Given the description of an element on the screen output the (x, y) to click on. 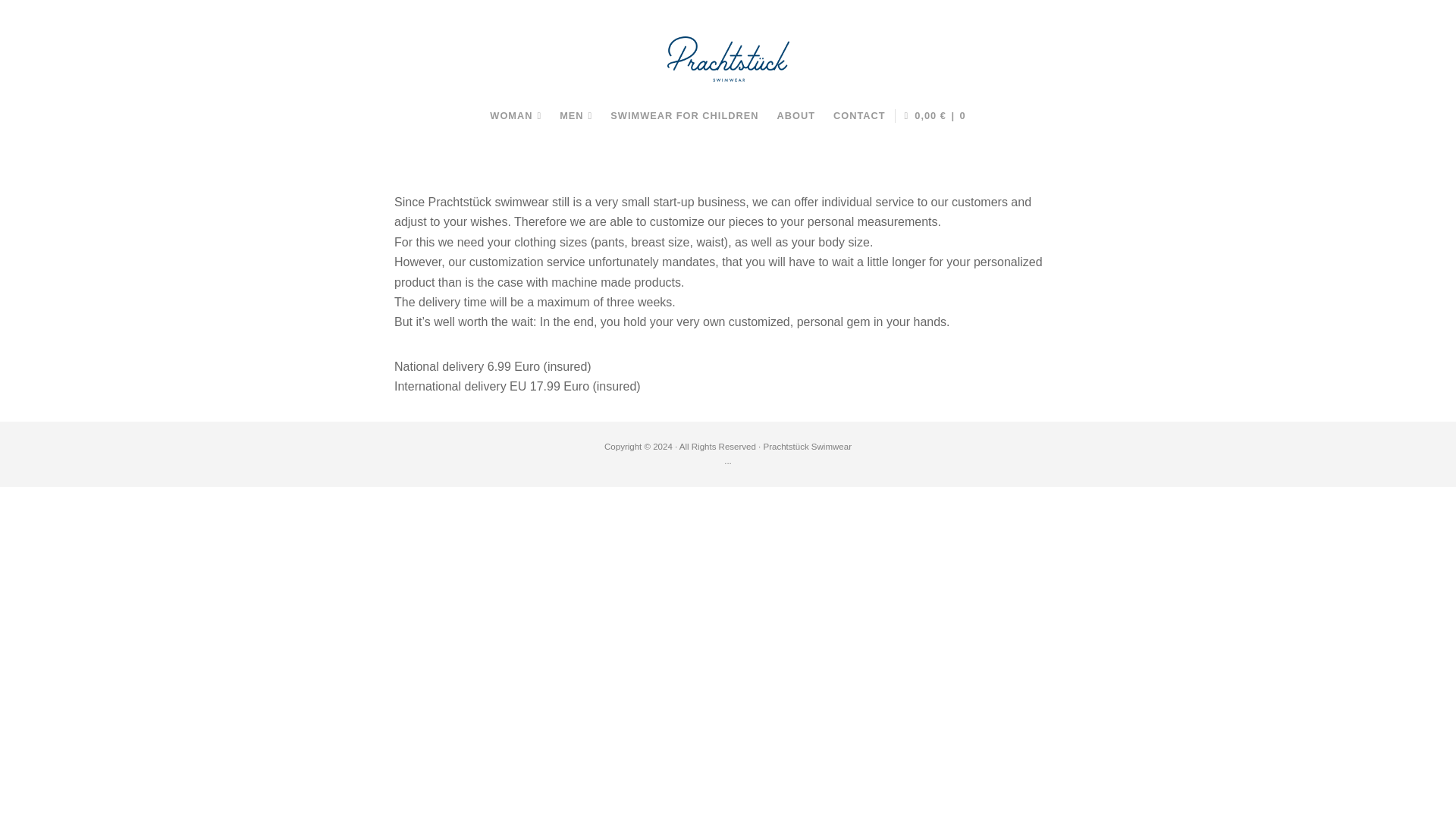
View your shopping cart (935, 115)
CONTACT (859, 115)
WOMAN (515, 115)
MEN (575, 115)
ABOUT (795, 115)
SWIMWEAR FOR CHILDREN (684, 115)
